Given the description of an element on the screen output the (x, y) to click on. 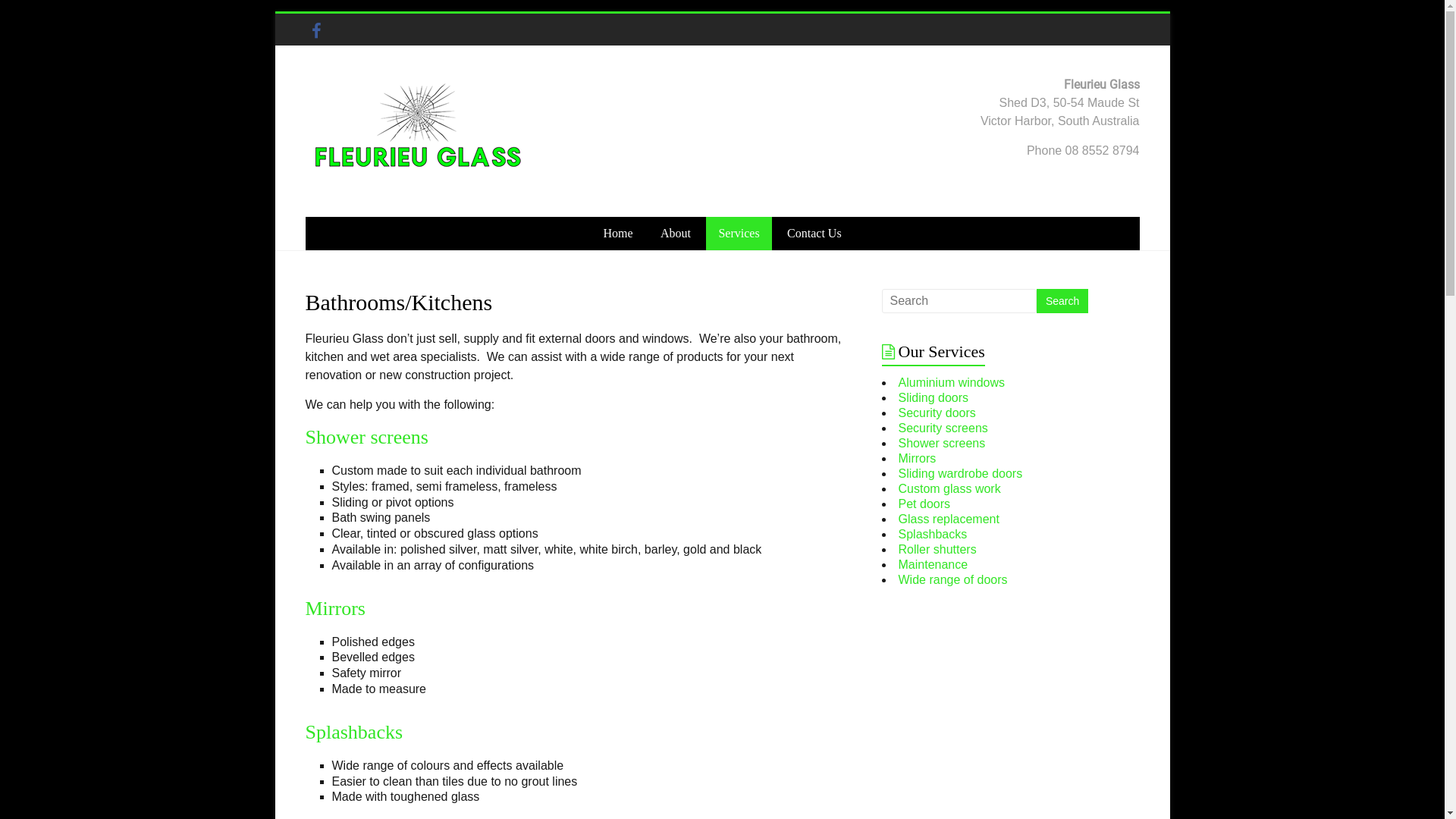
Glass replacement Element type: text (948, 518)
Aluminium windows Element type: text (951, 382)
Pet doors Element type: text (924, 503)
Search Element type: text (1062, 300)
Contact Us Element type: text (814, 233)
Security screens Element type: text (943, 427)
Sliding wardrobe doors Element type: text (960, 473)
Security doors Element type: text (936, 412)
Wide range of doors Element type: text (952, 579)
Skip to content Element type: text (274, 12)
Maintenance Element type: text (933, 564)
Custom glass work Element type: text (949, 488)
Splashbacks Element type: text (932, 533)
Services Element type: text (738, 233)
Sliding doors Element type: text (933, 397)
Roller shutters Element type: text (937, 548)
Home Element type: text (617, 233)
Mirrors Element type: text (917, 457)
About Element type: text (675, 233)
Fleurieu Glass Element type: text (349, 102)
Shower screens Element type: text (941, 442)
